Given the description of an element on the screen output the (x, y) to click on. 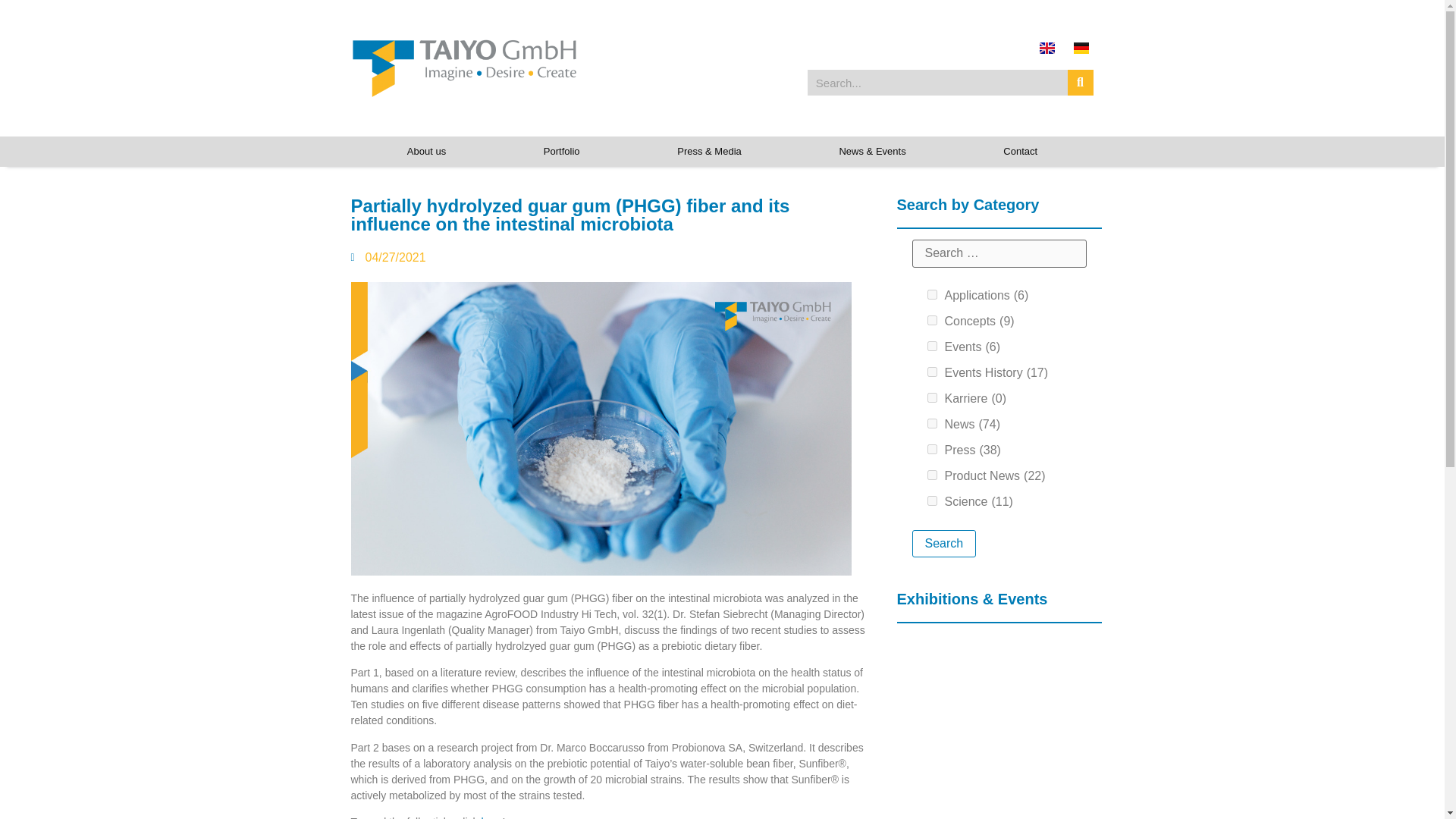
Search (943, 543)
news (931, 423)
events (931, 346)
applications (931, 294)
science (931, 501)
Contact (1020, 151)
press (931, 449)
About us (426, 151)
karriere-en (931, 397)
here (491, 817)
product-news (931, 474)
Portfolio (561, 151)
concepts (931, 320)
events-history (931, 371)
